Given the description of an element on the screen output the (x, y) to click on. 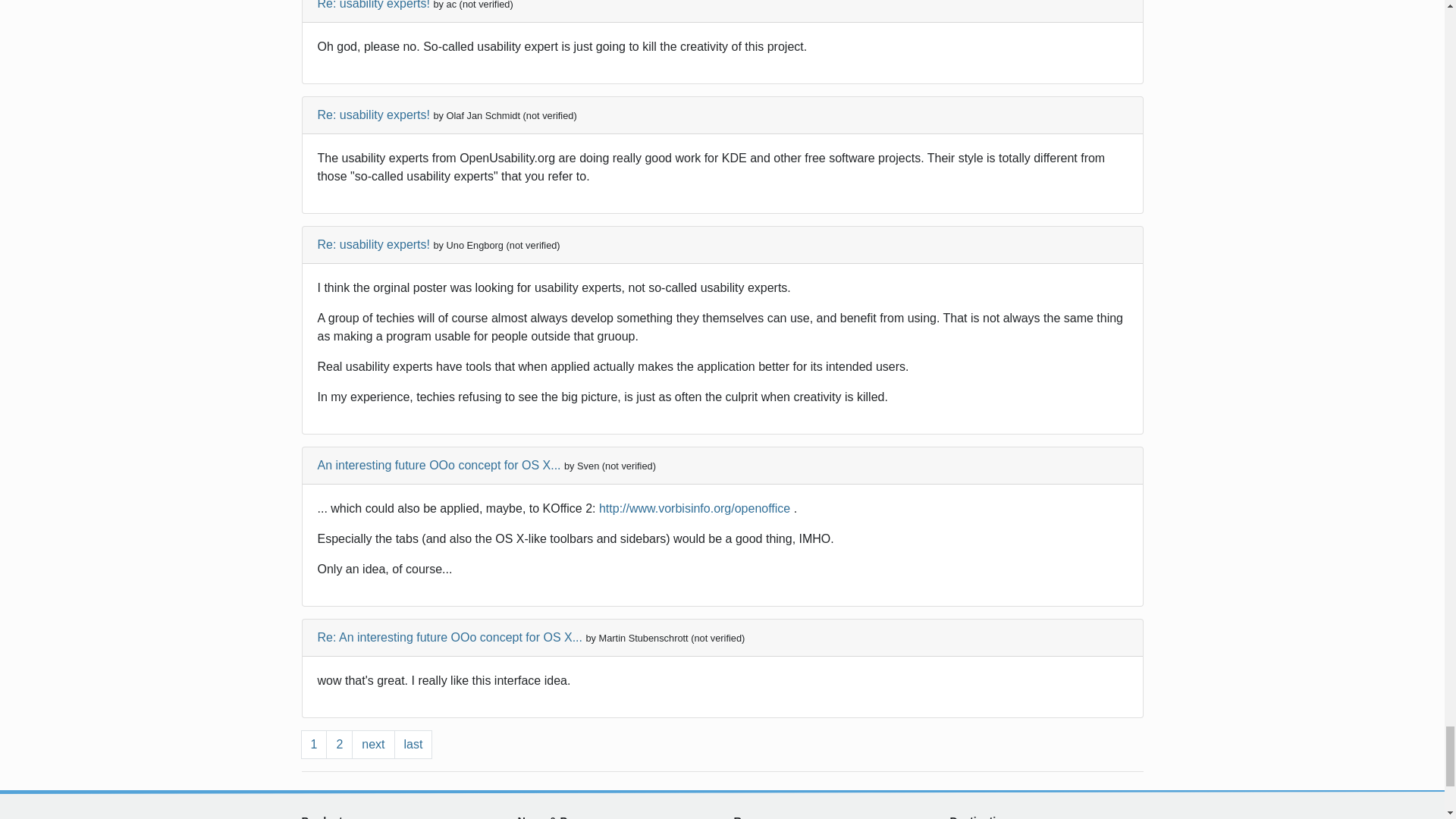
Go to page 2 (339, 744)
